Given the description of an element on the screen output the (x, y) to click on. 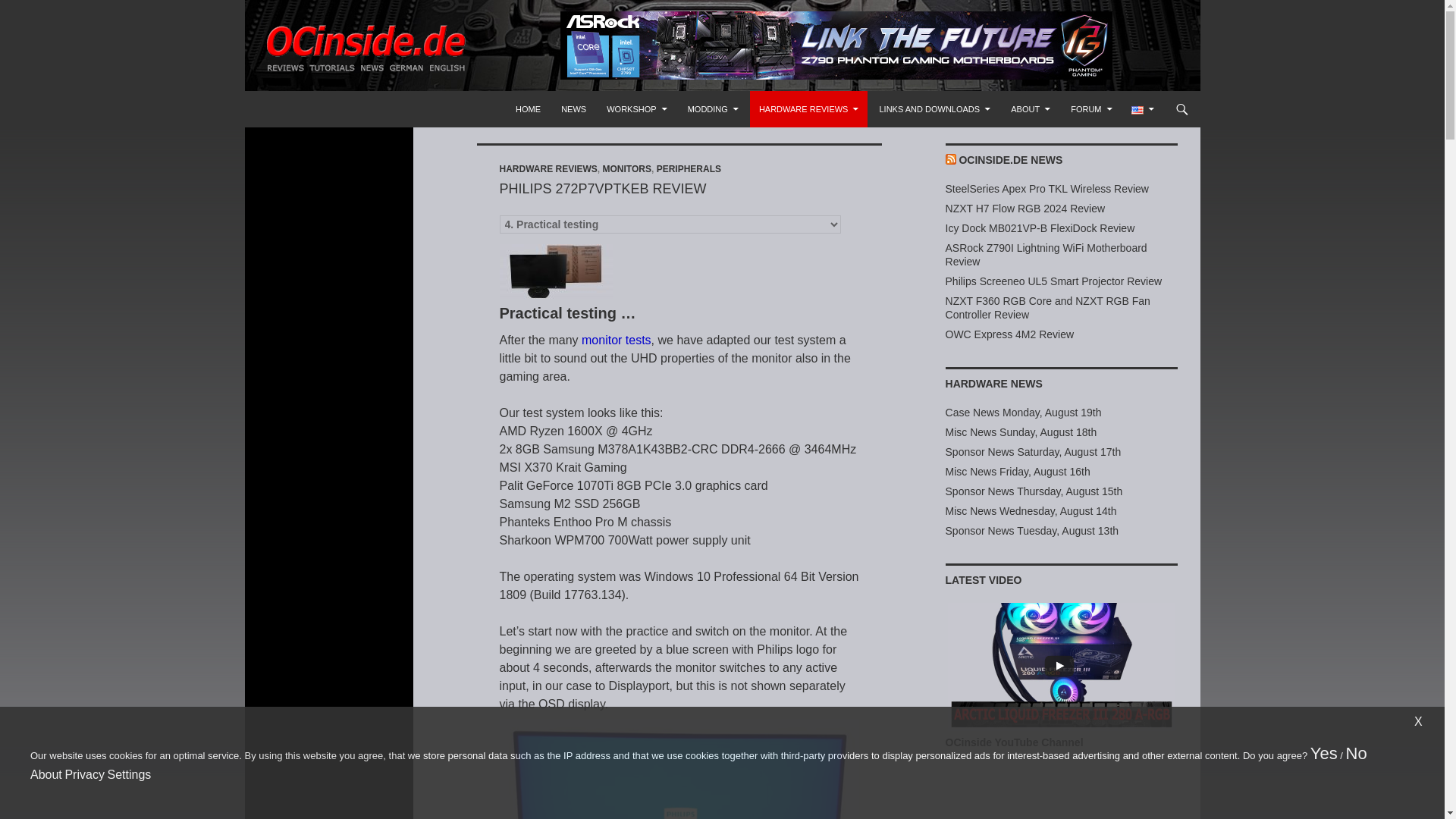
Search (267, 99)
HOME (528, 108)
WORKSHOP (635, 108)
NEWS (573, 108)
English (1136, 110)
no (1356, 752)
yes (1324, 752)
SKIP TO CONTENT (552, 97)
MODDING (713, 108)
Redaktion ocinside.de PC Hardware Portal International (447, 108)
